Given the description of an element on the screen output the (x, y) to click on. 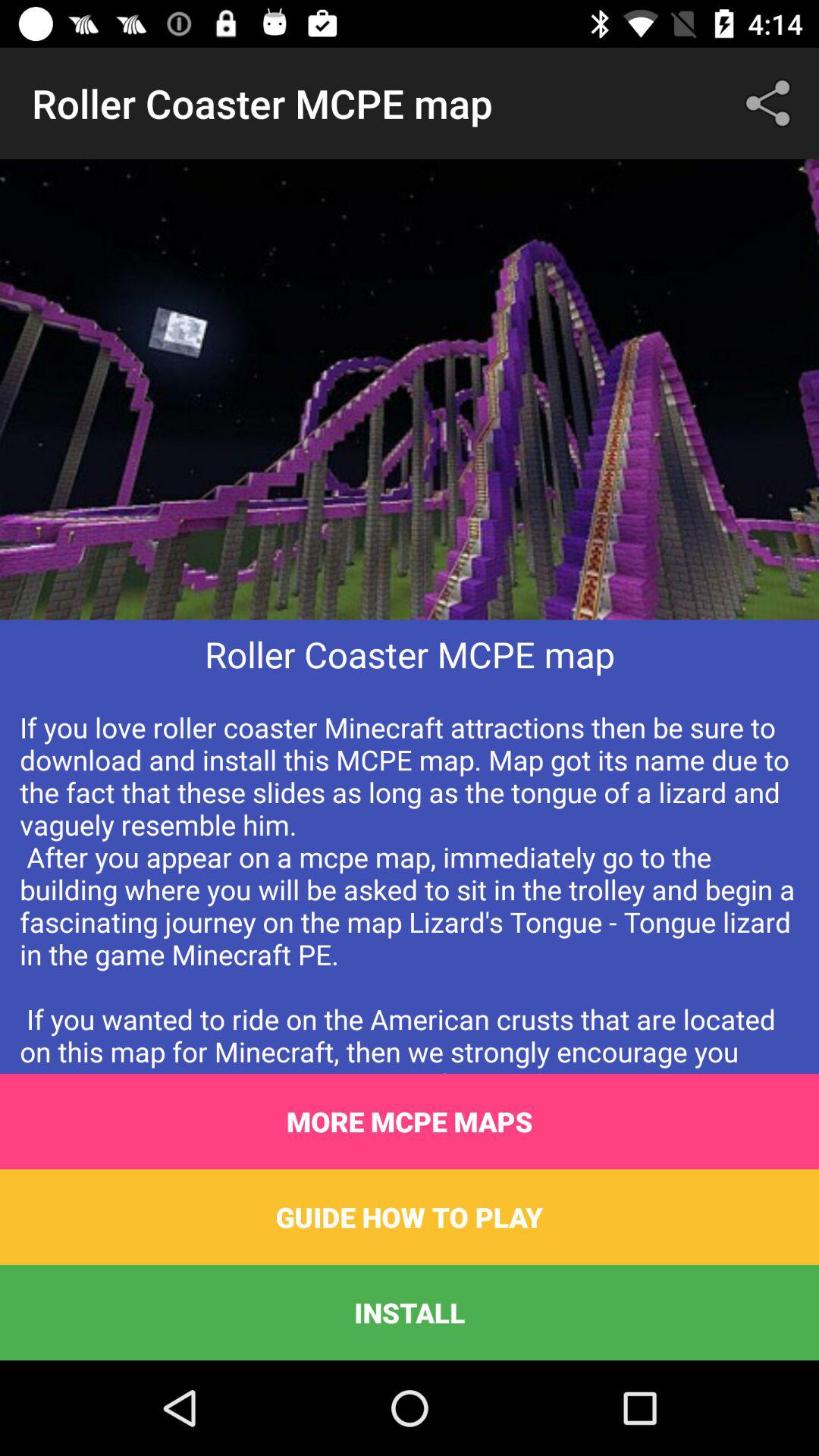
launch more mcpe maps icon (409, 1121)
